Given the description of an element on the screen output the (x, y) to click on. 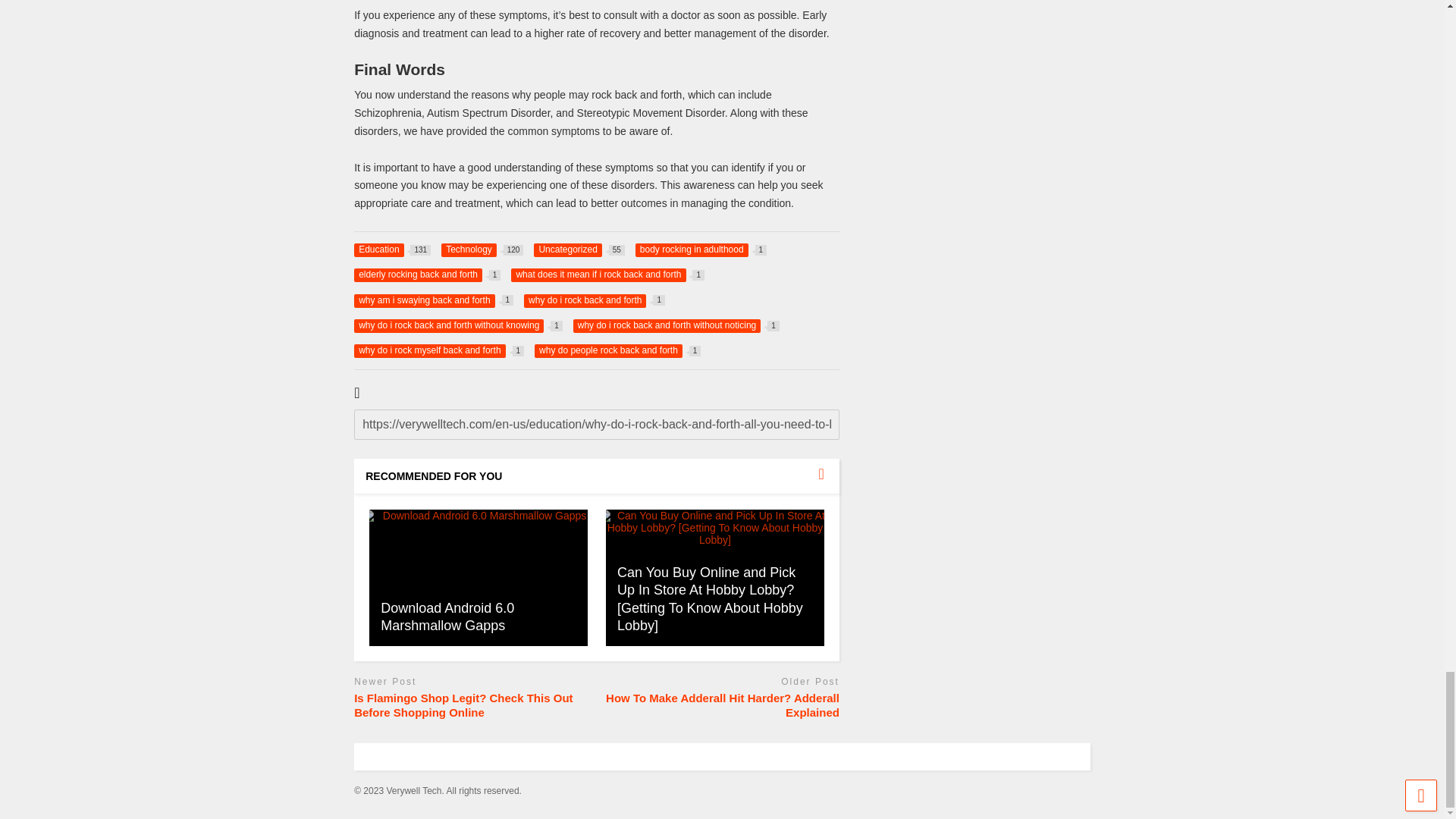
Download Android 6.0 Marshmallow Gapps (391, 250)
Click to read (426, 274)
Click to read (446, 616)
Download Android 6.0 Marshmallow Gapps (714, 577)
